Given the description of an element on the screen output the (x, y) to click on. 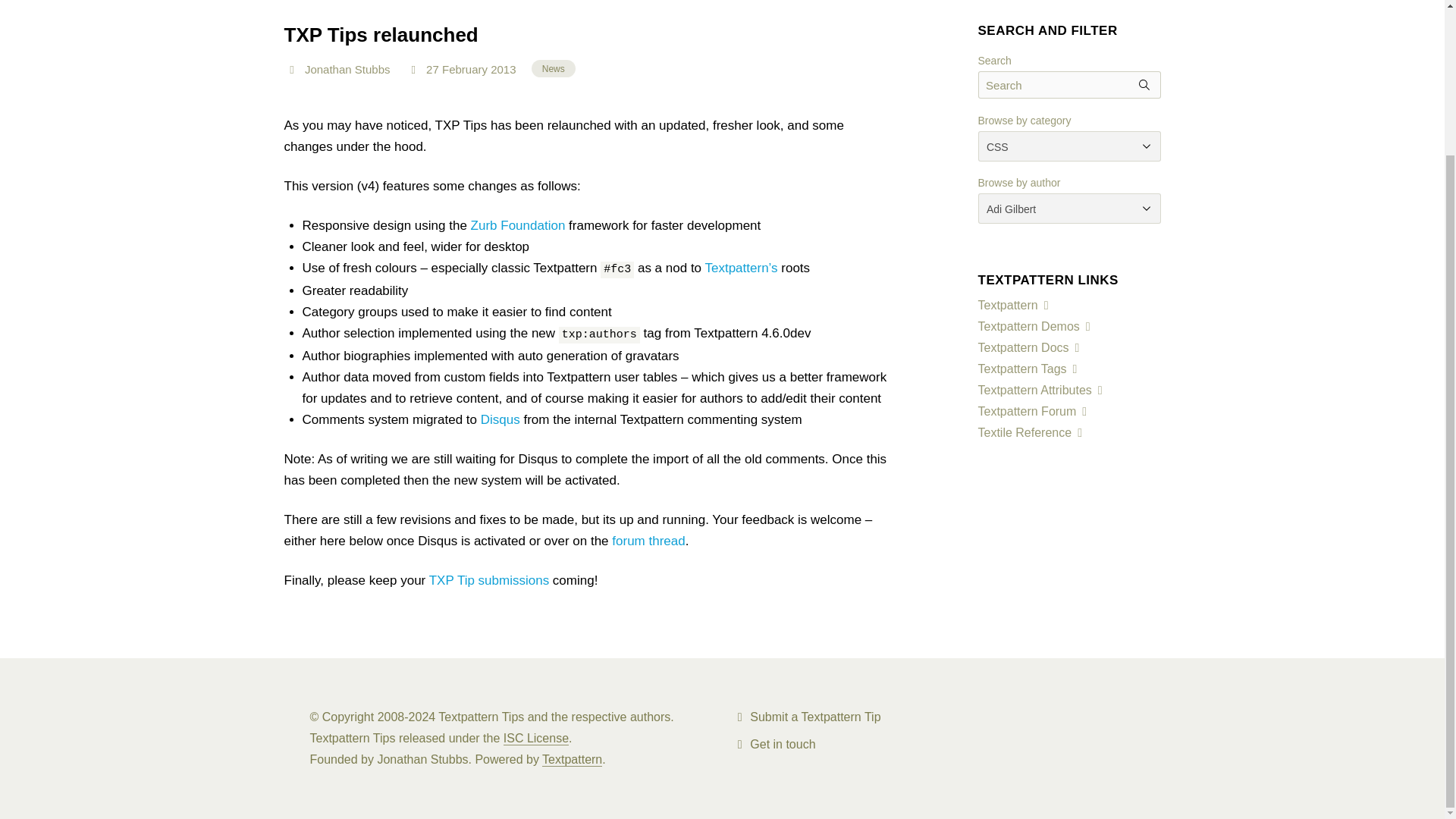
Textpattern Tags (1029, 368)
February (464, 69)
Textpattern community forum homepage (1033, 410)
Textpattern Forum (1033, 410)
TXP Tip submissions (488, 580)
All tips by Jonathan Stubbs (353, 66)
Textpattern tag attributes cross-reference (1041, 390)
Textpattern Docs (1029, 347)
Textpattern (571, 758)
forum thread (647, 540)
Textpattern Tips License (536, 737)
ISC License (536, 737)
News (553, 67)
Jonathan Stubbs (353, 66)
Textpattern CMS Homepage (571, 758)
